Given the description of an element on the screen output the (x, y) to click on. 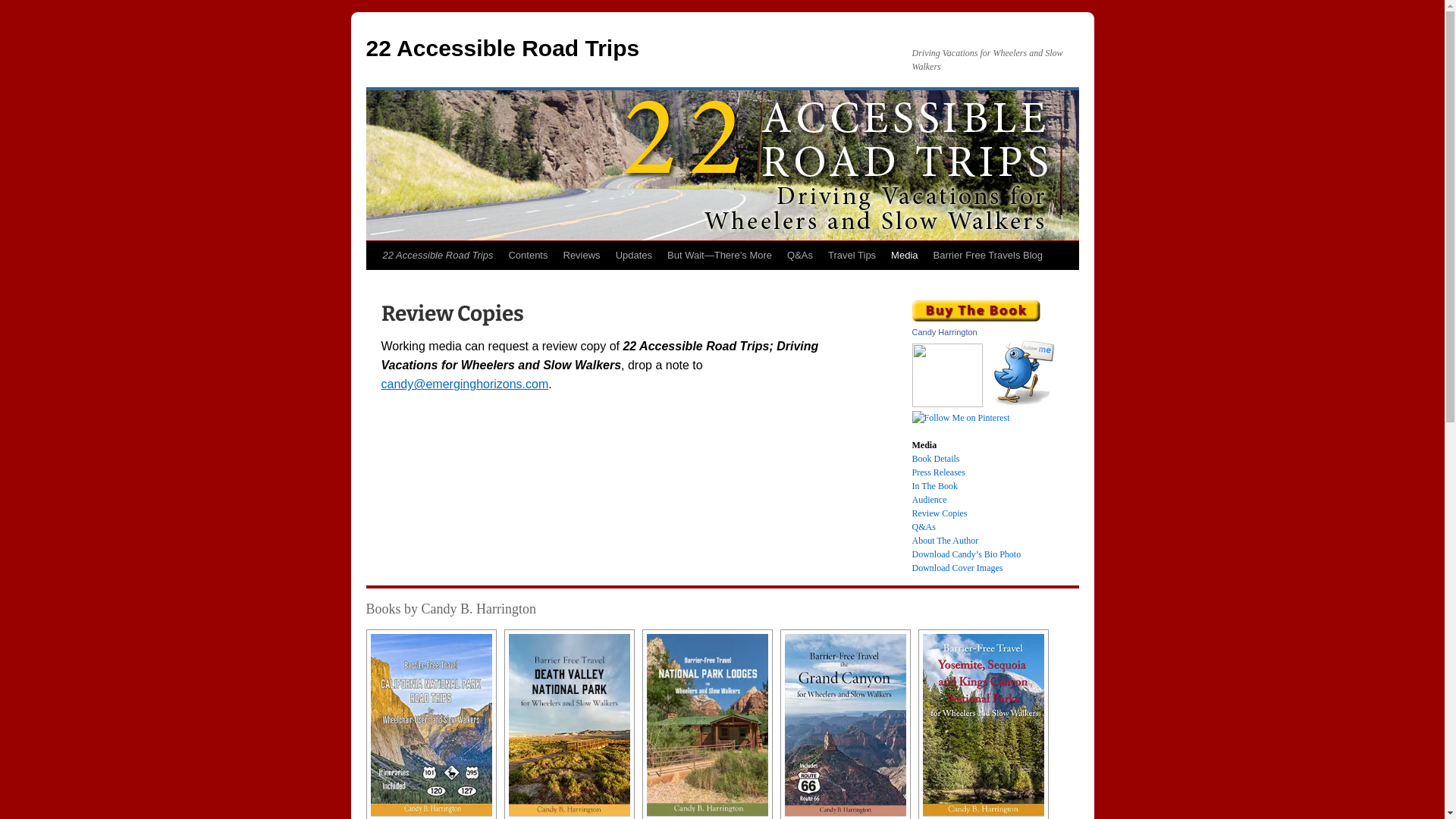
22 Accessible Road Trips Element type: text (502, 47)
About The Author Element type: text (944, 540)
candy@emerginghorizons.com Element type: text (464, 383)
Barrier Free Travels Blog Element type: text (988, 255)
Review Copies Element type: text (938, 513)
In The Book Element type: text (934, 485)
Buy The Book Element type: hover (975, 310)
Updates Element type: text (633, 255)
Q&As Element type: text (923, 526)
Travel Tips Element type: text (851, 255)
Candy Harrington Element type: hover (946, 403)
Contents Element type: text (527, 255)
Skip to content Element type: text (372, 283)
Book Details Element type: text (935, 458)
Audience Element type: text (928, 499)
Media Element type: text (904, 255)
Download Cover Images Element type: text (956, 567)
Q&As Element type: text (799, 255)
Press Releases Element type: text (937, 472)
Candy Harrington Element type: text (943, 331)
Reviews Element type: text (581, 255)
22 Accessible Road Trips Element type: text (437, 255)
